Given the description of an element on the screen output the (x, y) to click on. 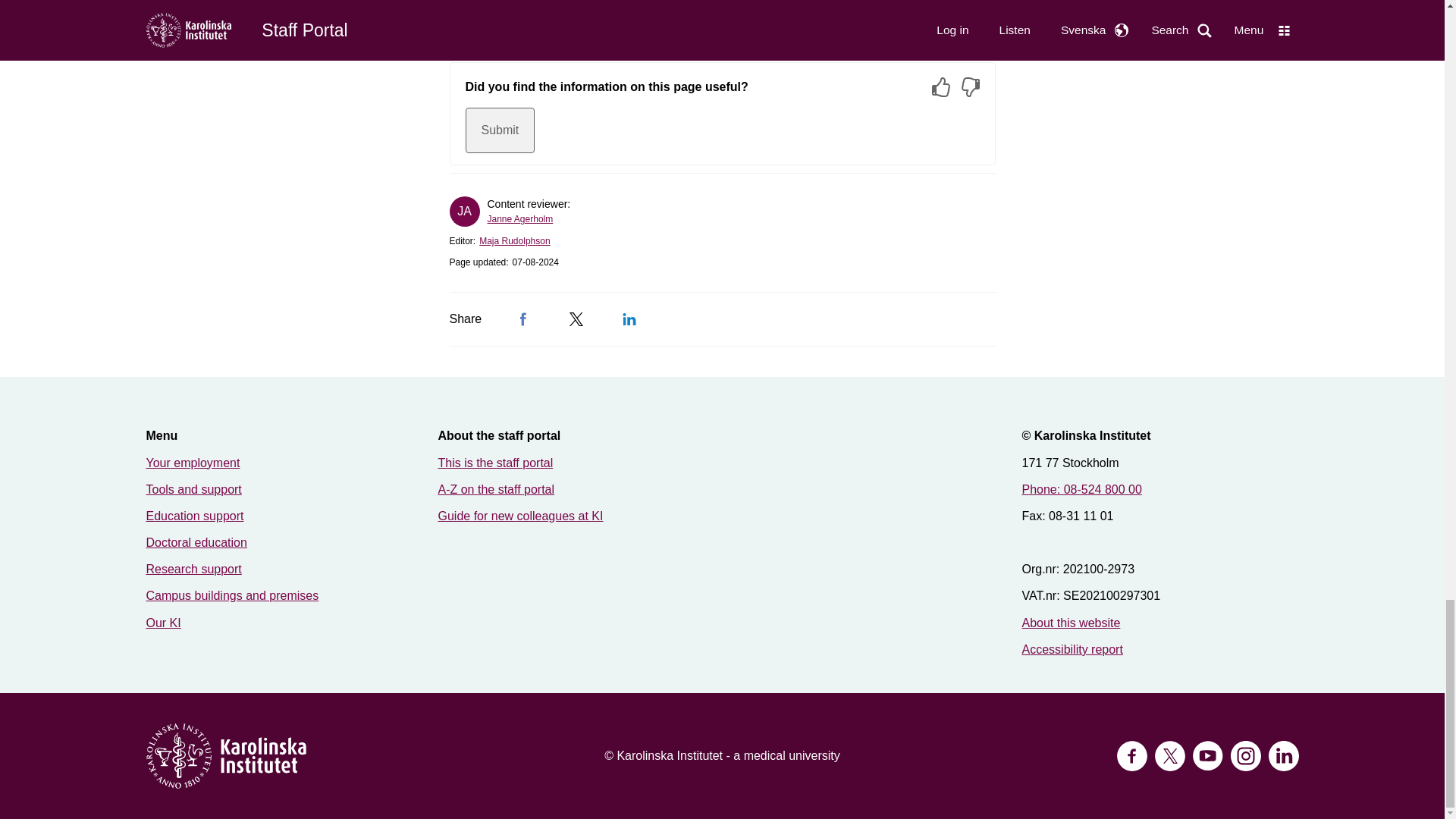
Facebook (523, 318)
Janne Agerholm (519, 218)
Maja Rudolphson (514, 241)
Research support (193, 568)
Submit (500, 130)
Education support (194, 515)
Tools and support (193, 489)
Doctoral education (195, 542)
